Given the description of an element on the screen output the (x, y) to click on. 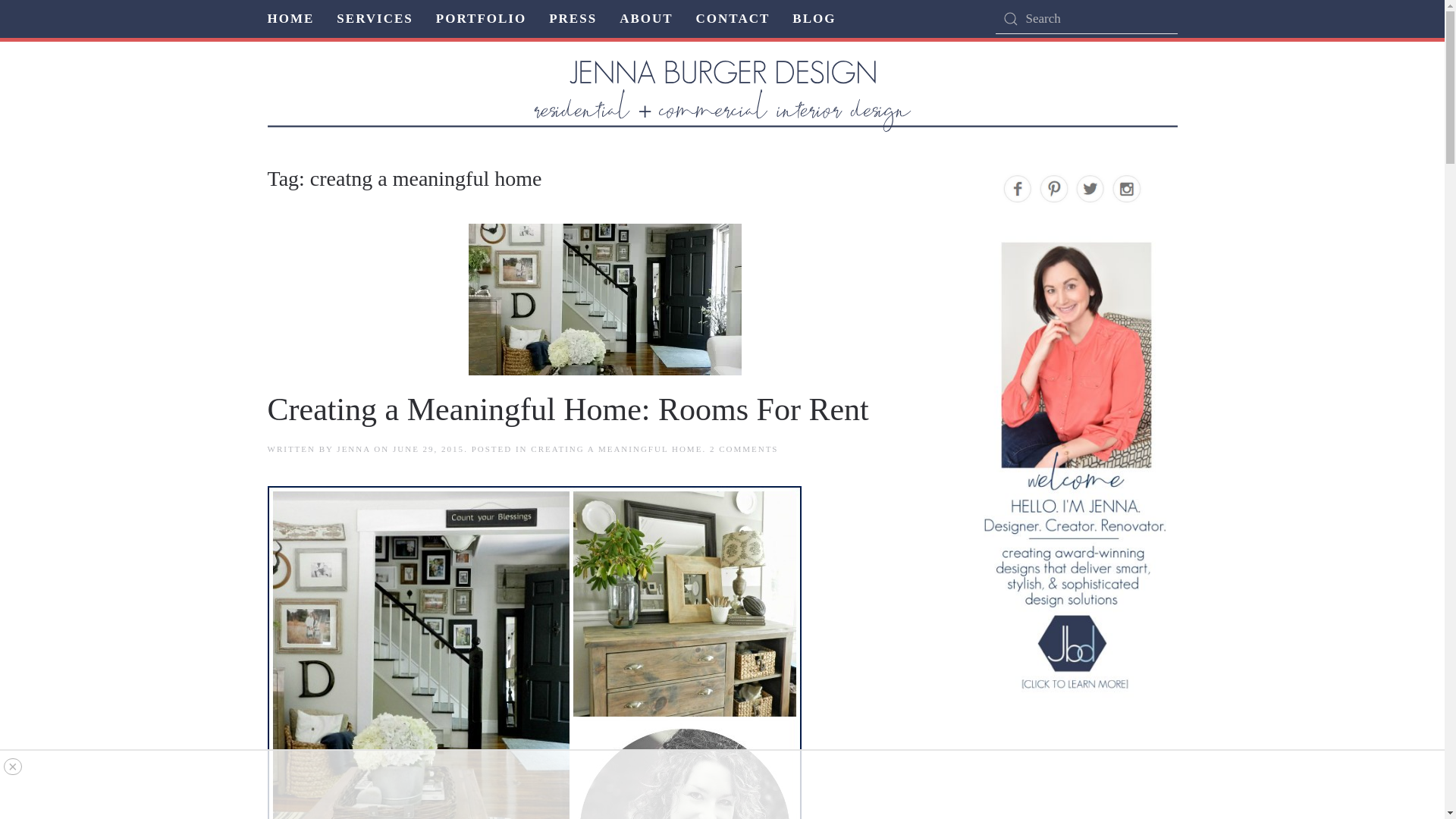
PORTFOLIO (480, 18)
CONTACT (732, 18)
BLOG (813, 18)
Creating a Meaningful Home: Rooms For Rent (566, 409)
PRESS (572, 18)
SERVICES (374, 18)
CREATING A MEANINGFUL HOME (744, 448)
JENNA (616, 448)
ABOUT (352, 448)
HOME (646, 18)
